Given the description of an element on the screen output the (x, y) to click on. 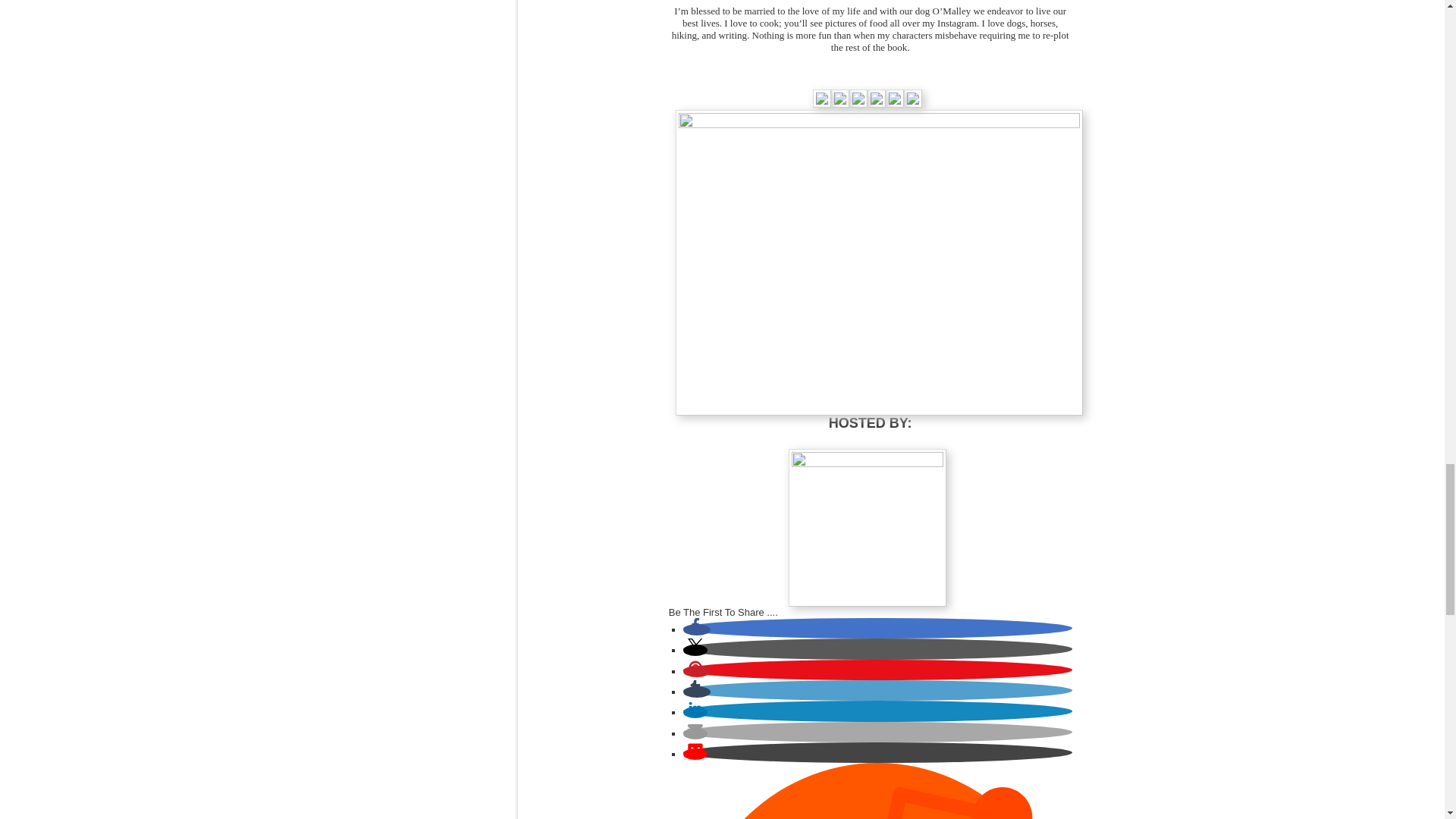
Share on X (694, 650)
Share on tumblr (696, 691)
Save to Pocket (694, 754)
Share on Facebook (696, 629)
Pin it on Pinterest (696, 671)
Share on LinkedIn (694, 712)
Send by email (694, 733)
